Given the description of an element on the screen output the (x, y) to click on. 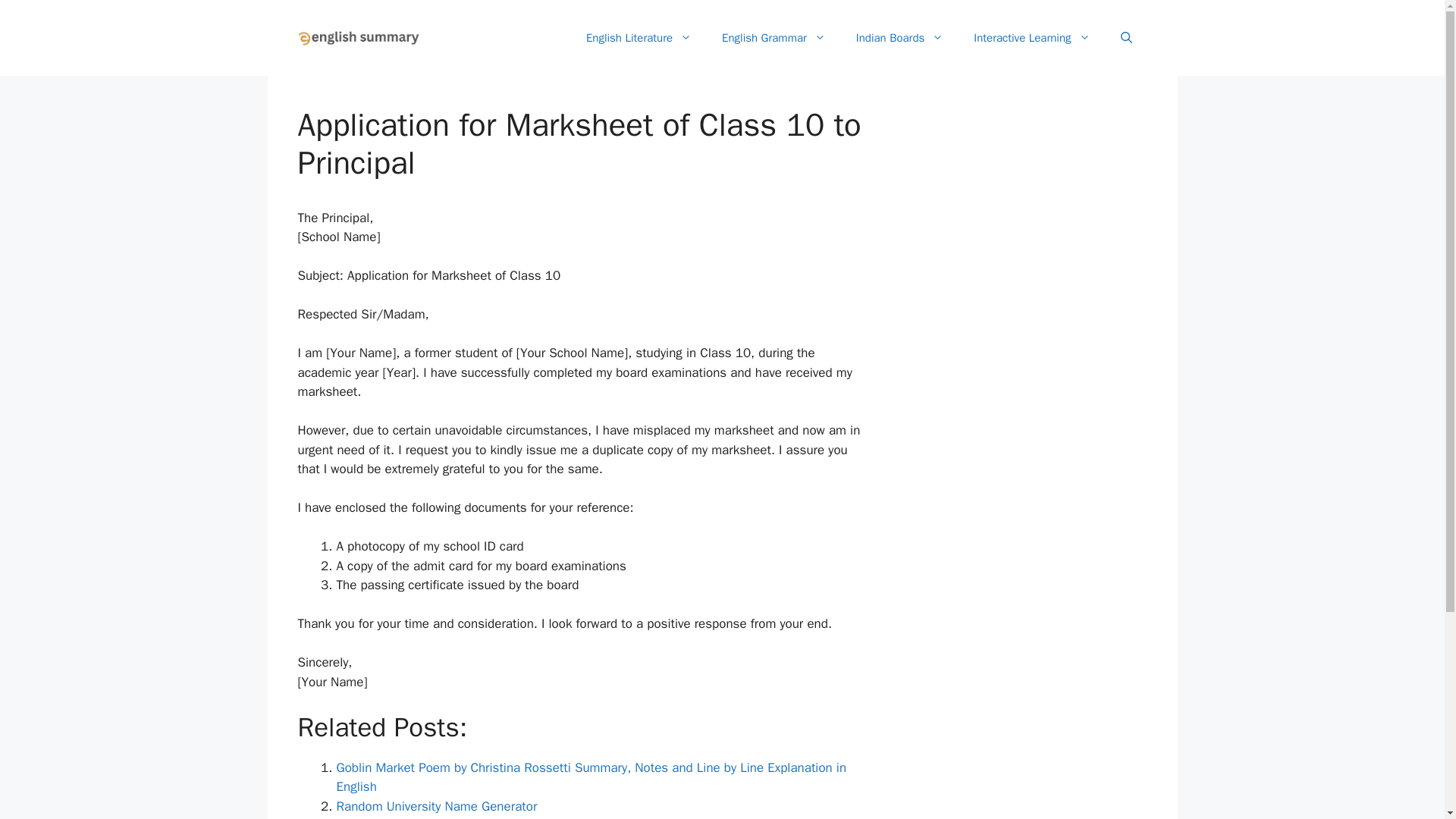
Indian Boards (899, 37)
English Literature (638, 37)
English Grammar (773, 37)
Interactive Learning (1031, 37)
